Given the description of an element on the screen output the (x, y) to click on. 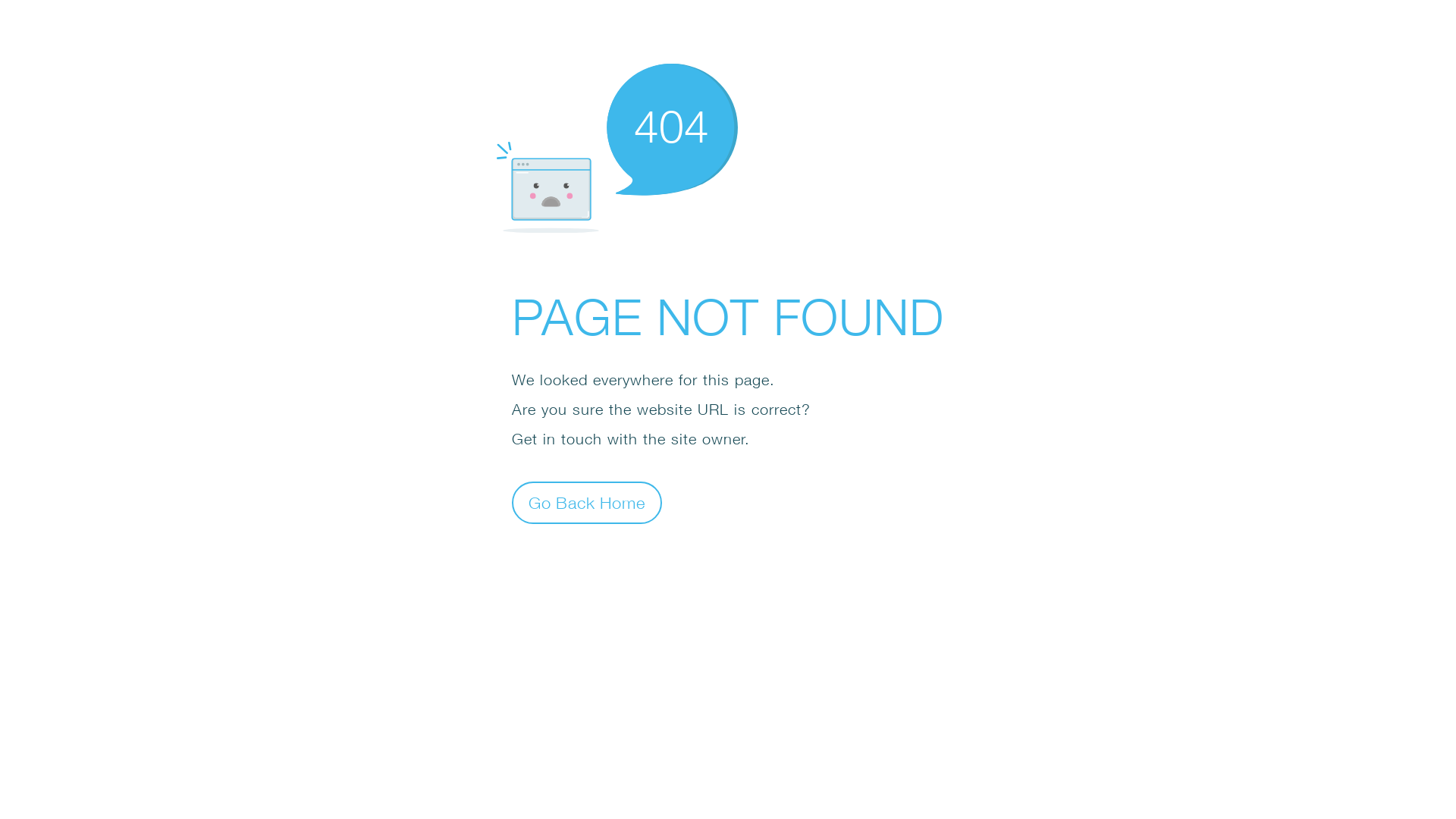
Go Back Home Element type: text (586, 502)
